Given the description of an element on the screen output the (x, y) to click on. 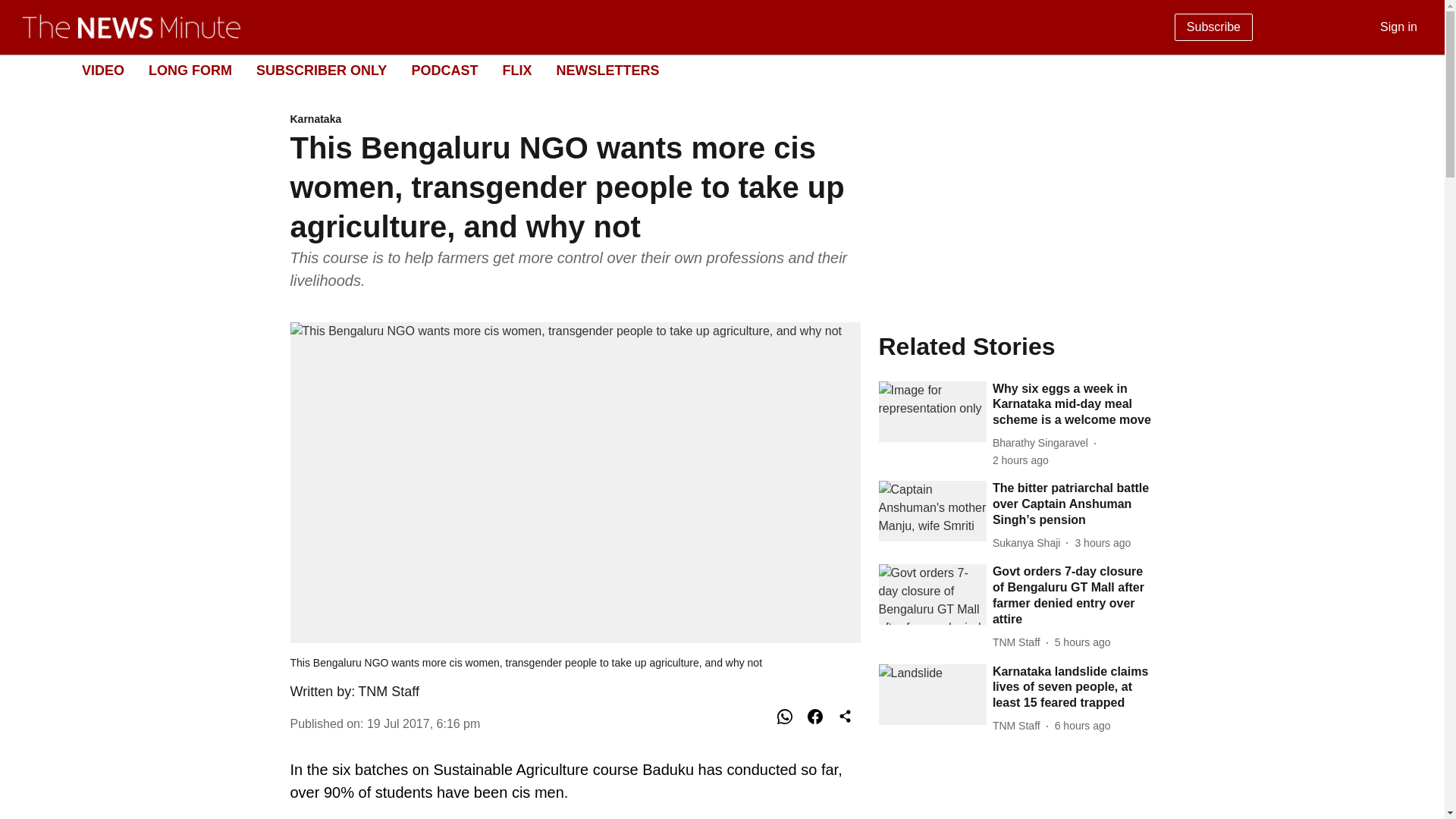
2024-07-18 13:37 (1020, 460)
FLIX (516, 70)
2024-07-18 10:26 (1082, 725)
2024-07-18 13:13 (1102, 543)
NEWSLETTERS (607, 70)
Bharathy Singaravel (1043, 442)
Related Stories (1015, 345)
TNM Staff (388, 691)
Karnataka (574, 119)
2017-07-19 10:16 (423, 723)
PODCAST (443, 70)
2024-07-18 10:47 (1082, 642)
LONG FORM (189, 70)
